Given the description of an element on the screen output the (x, y) to click on. 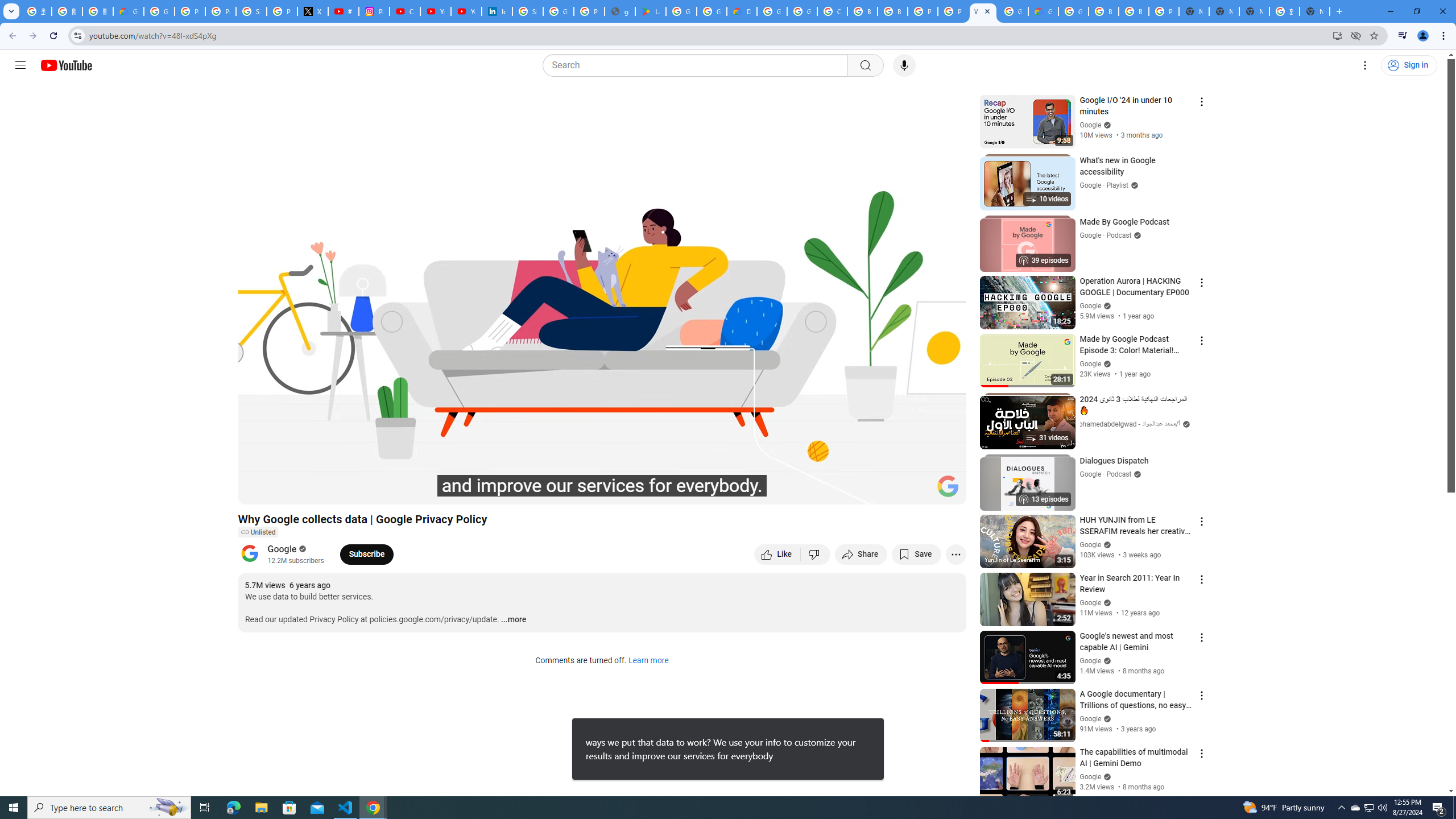
Google (282, 548)
Verified (1106, 776)
More actions (955, 554)
Dislike this video (815, 554)
Browse Chrome as a guest - Computer - Google Chrome Help (892, 11)
Channel watermark (947, 486)
Google Cloud Privacy Notice (127, 11)
Mute (m) (312, 490)
